Given the description of an element on the screen output the (x, y) to click on. 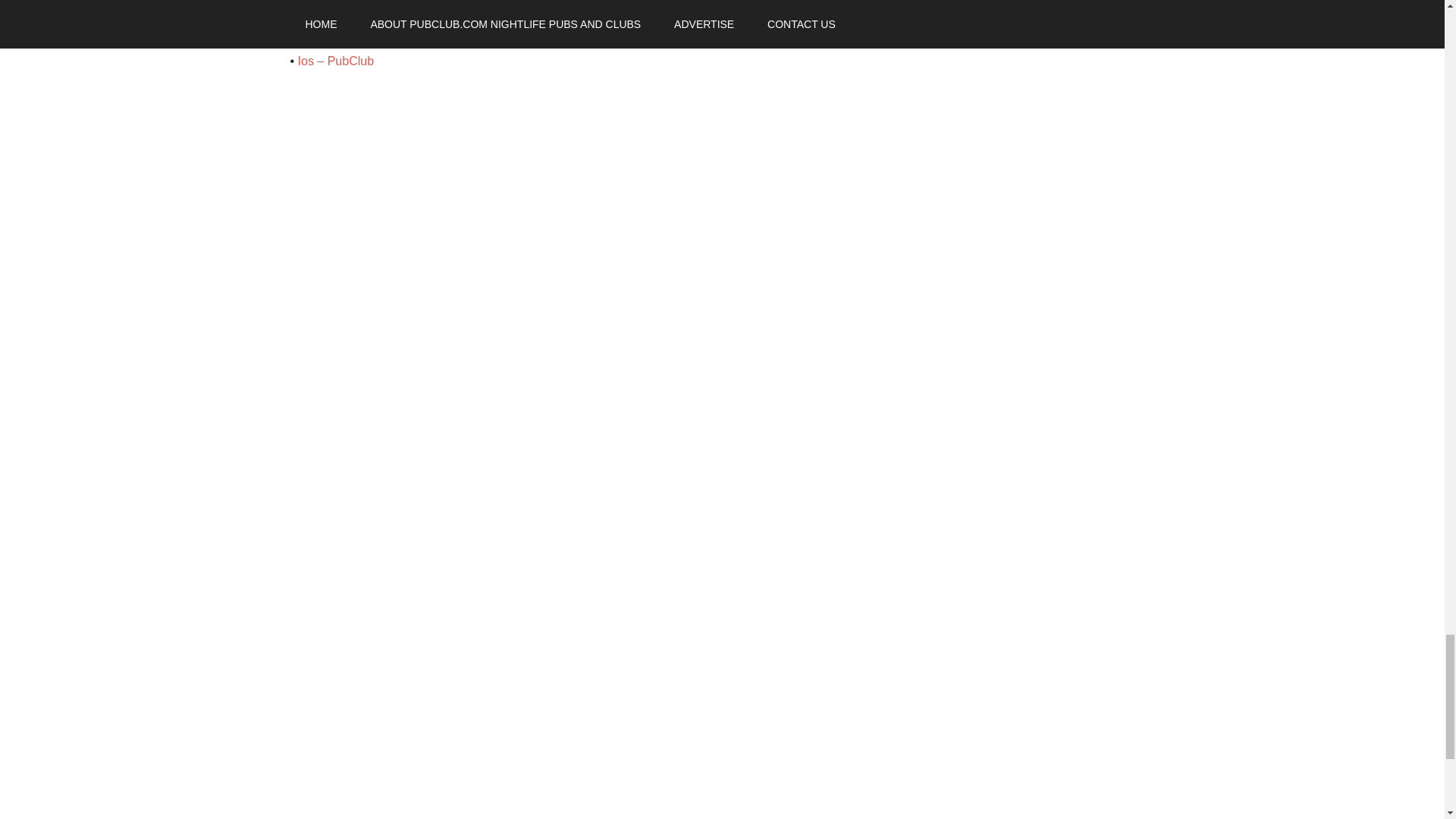
Mykonos PubClub (347, 21)
